Given the description of an element on the screen output the (x, y) to click on. 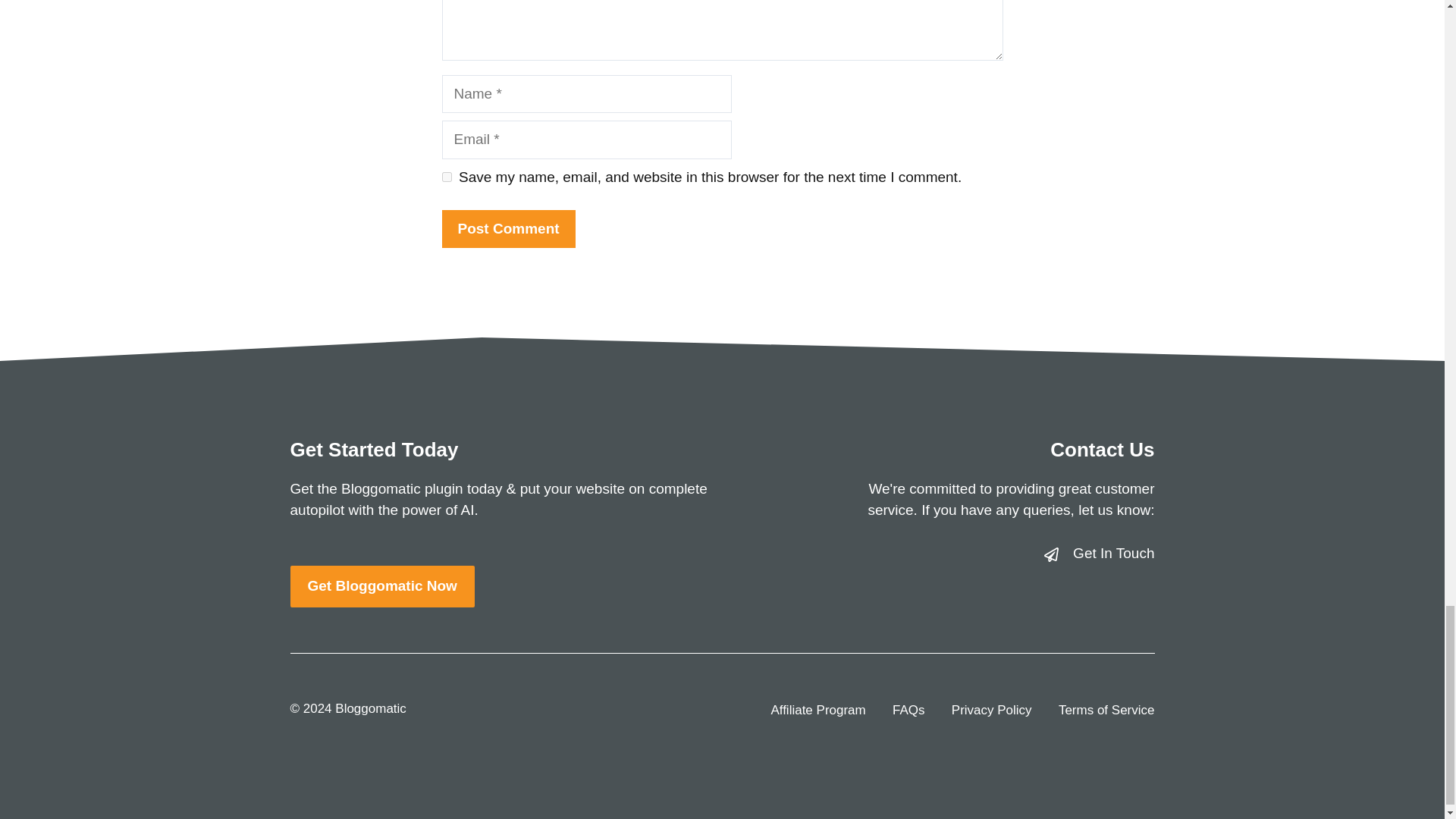
Privacy Policy (992, 710)
Post Comment (508, 228)
Affiliate Program (817, 710)
Terms of Service (1106, 710)
FAQs (908, 710)
Get Bloggomatic Now (381, 586)
yes (446, 176)
Post Comment (508, 228)
Get In Touch (1113, 553)
